Given the description of an element on the screen output the (x, y) to click on. 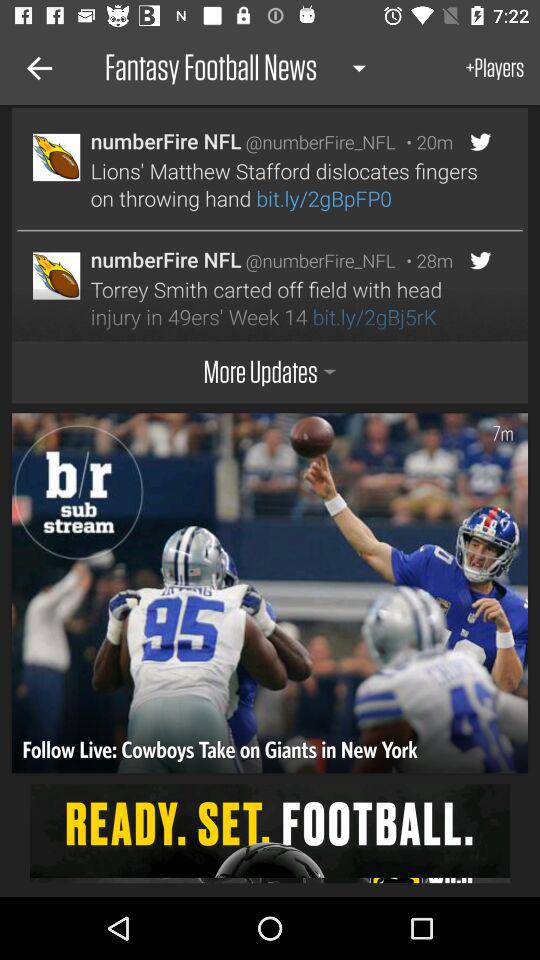
flip until +players (495, 67)
